Given the description of an element on the screen output the (x, y) to click on. 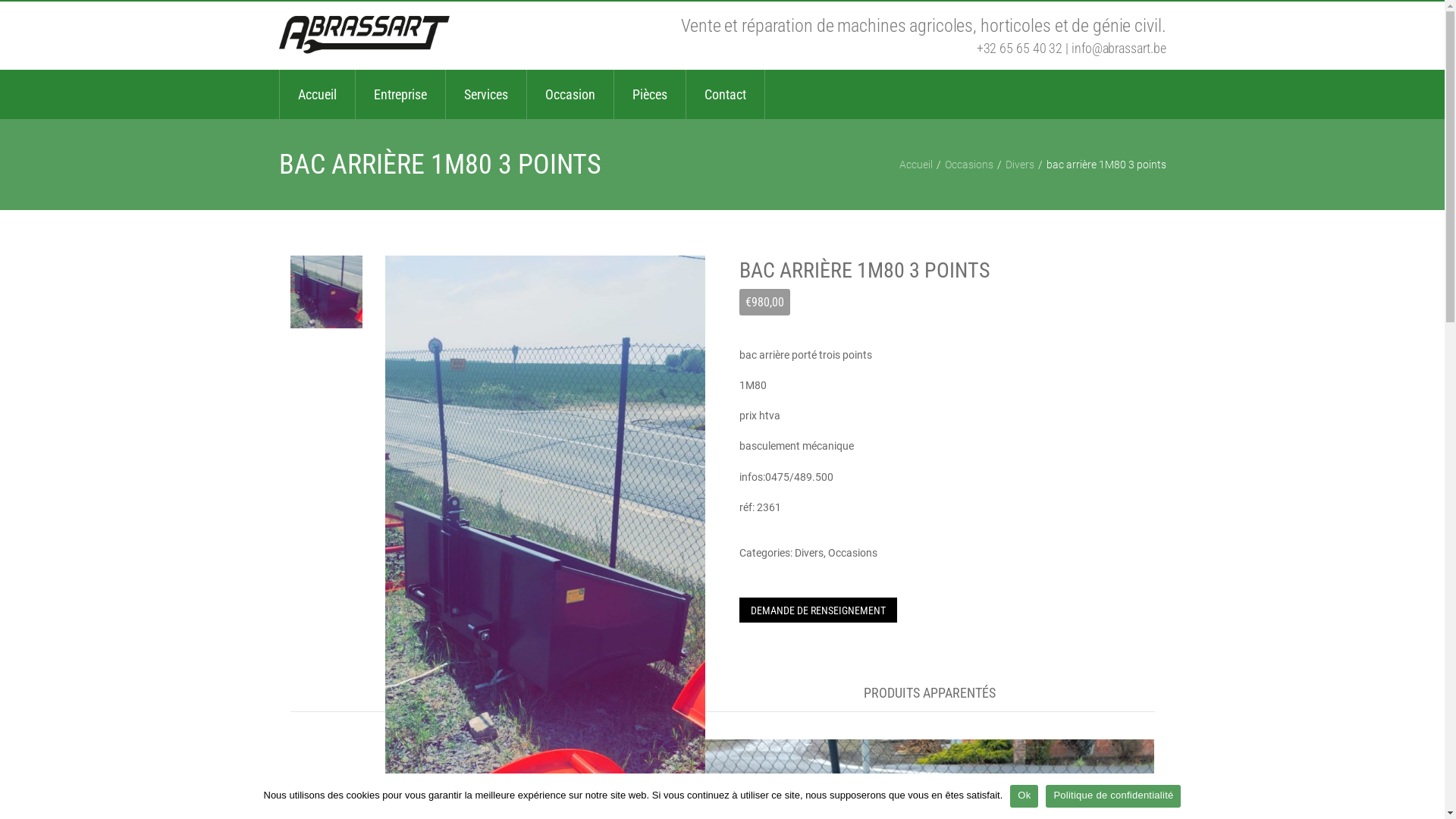
Accueil Element type: text (316, 94)
Contact Element type: text (724, 94)
Entreprise Element type: text (399, 94)
279283931_546487433496249_7829175134879864815_n Element type: hover (325, 291)
Logo Element type: hover (364, 35)
Ok Element type: text (1024, 795)
Occasions Element type: text (852, 552)
Divers Element type: text (1019, 164)
Services Element type: text (485, 94)
DEMANDE DE RENSEIGNEMENT Element type: text (818, 609)
Accueil Element type: text (915, 164)
Divers Element type: text (808, 552)
Logo Element type: hover (364, 34)
Occasion Element type: text (569, 94)
+32 65 65 40 32 Element type: text (1019, 48)
info@abrassart.be Element type: text (1118, 48)
Occasions Element type: text (968, 164)
